Given the description of an element on the screen output the (x, y) to click on. 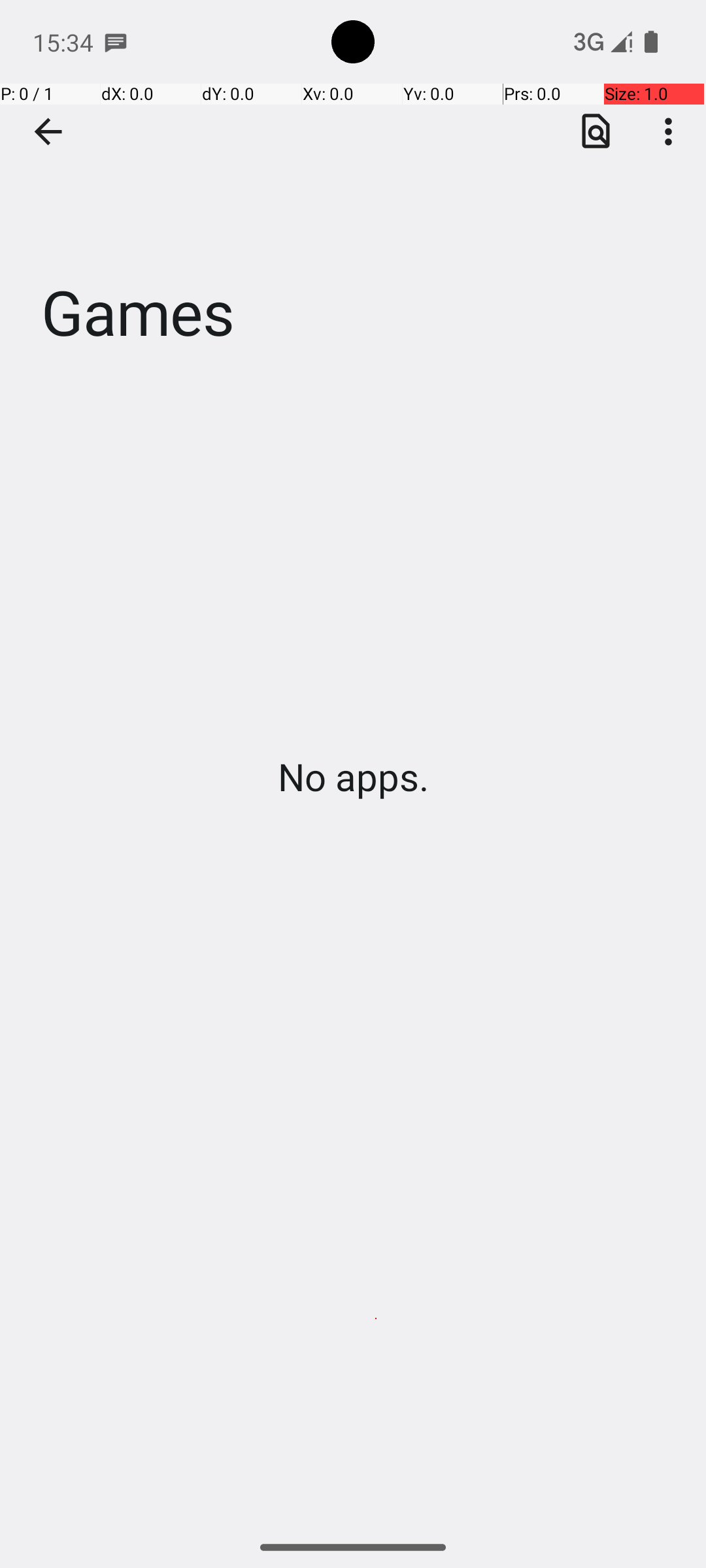
Games Element type: android.widget.FrameLayout (353, 195)
No apps. Element type: android.widget.TextView (353, 776)
